Given the description of an element on the screen output the (x, y) to click on. 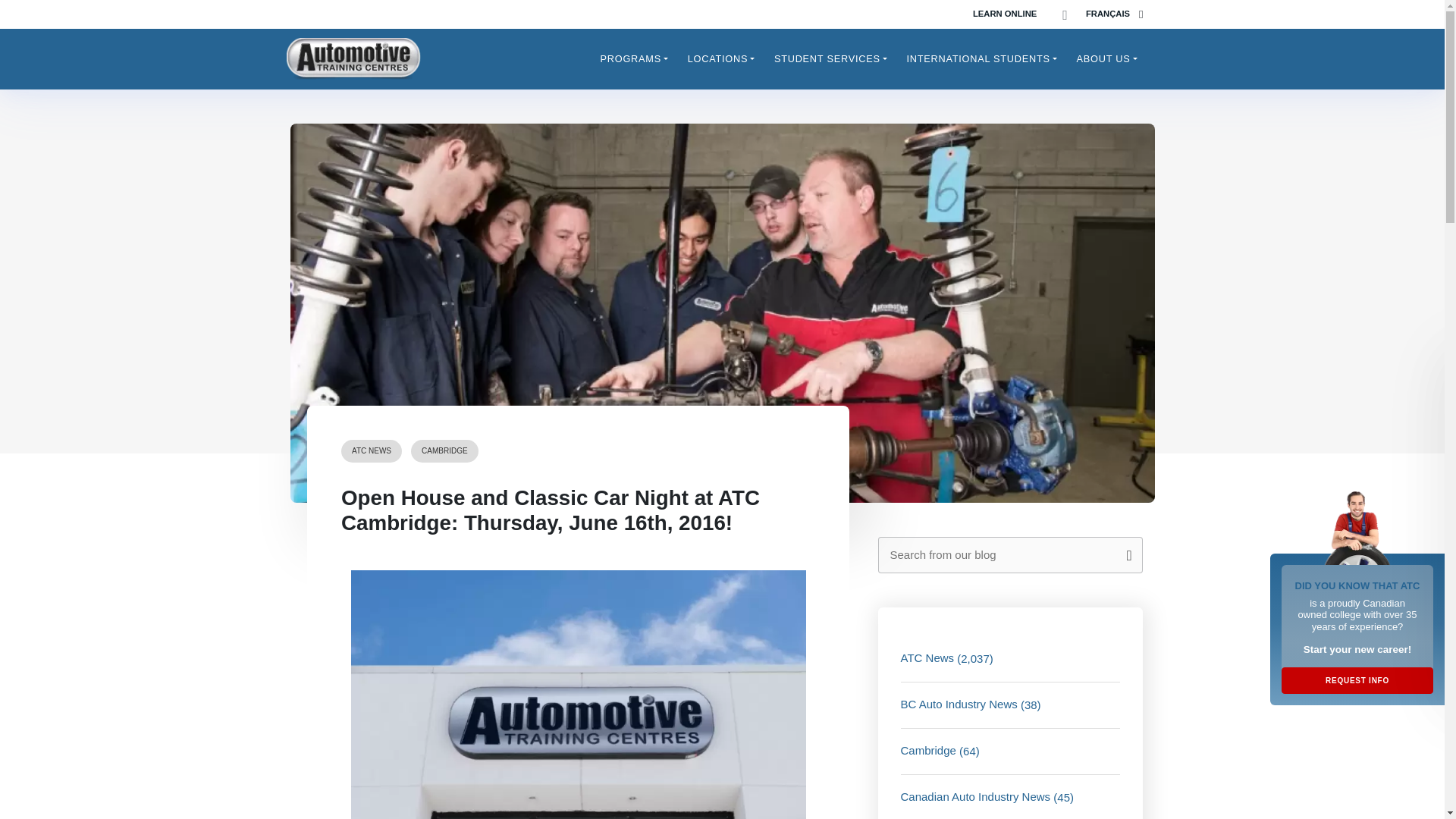
Programs (634, 58)
PROGRAMS (634, 58)
LEARN ONLINE (1004, 13)
Learn Online (1004, 13)
